Given the description of an element on the screen output the (x, y) to click on. 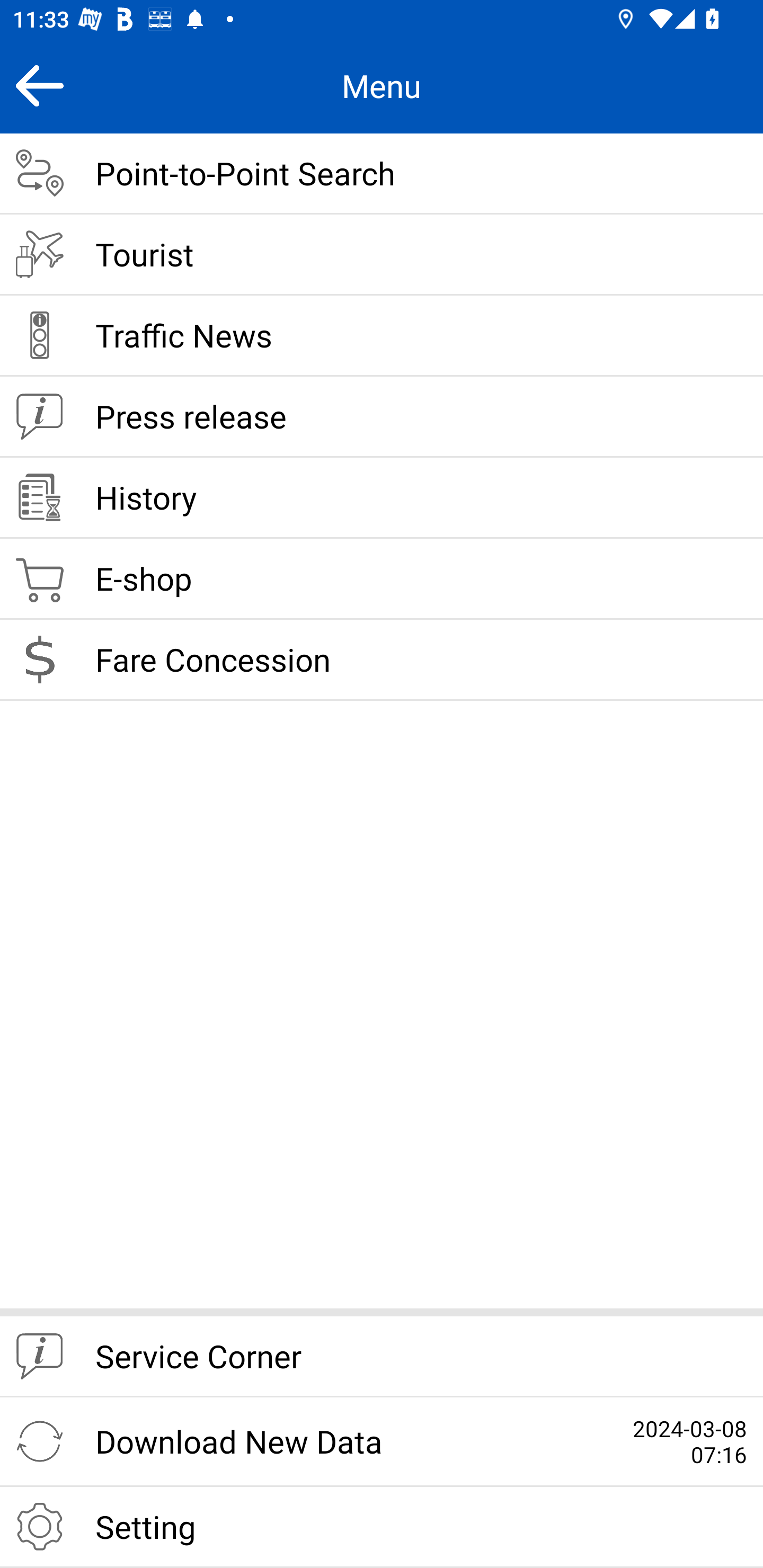
Back (39, 85)
Point-to-Point Search (381, 173)
Tourist (381, 255)
Traffic News (381, 336)
Press release (381, 416)
History (381, 498)
E-shop (381, 579)
Fare Concession (381, 659)
Service Corner (381, 1357)
Download New Data 2024-03-08
07:16 (381, 1441)
Setting (381, 1527)
